Given the description of an element on the screen output the (x, y) to click on. 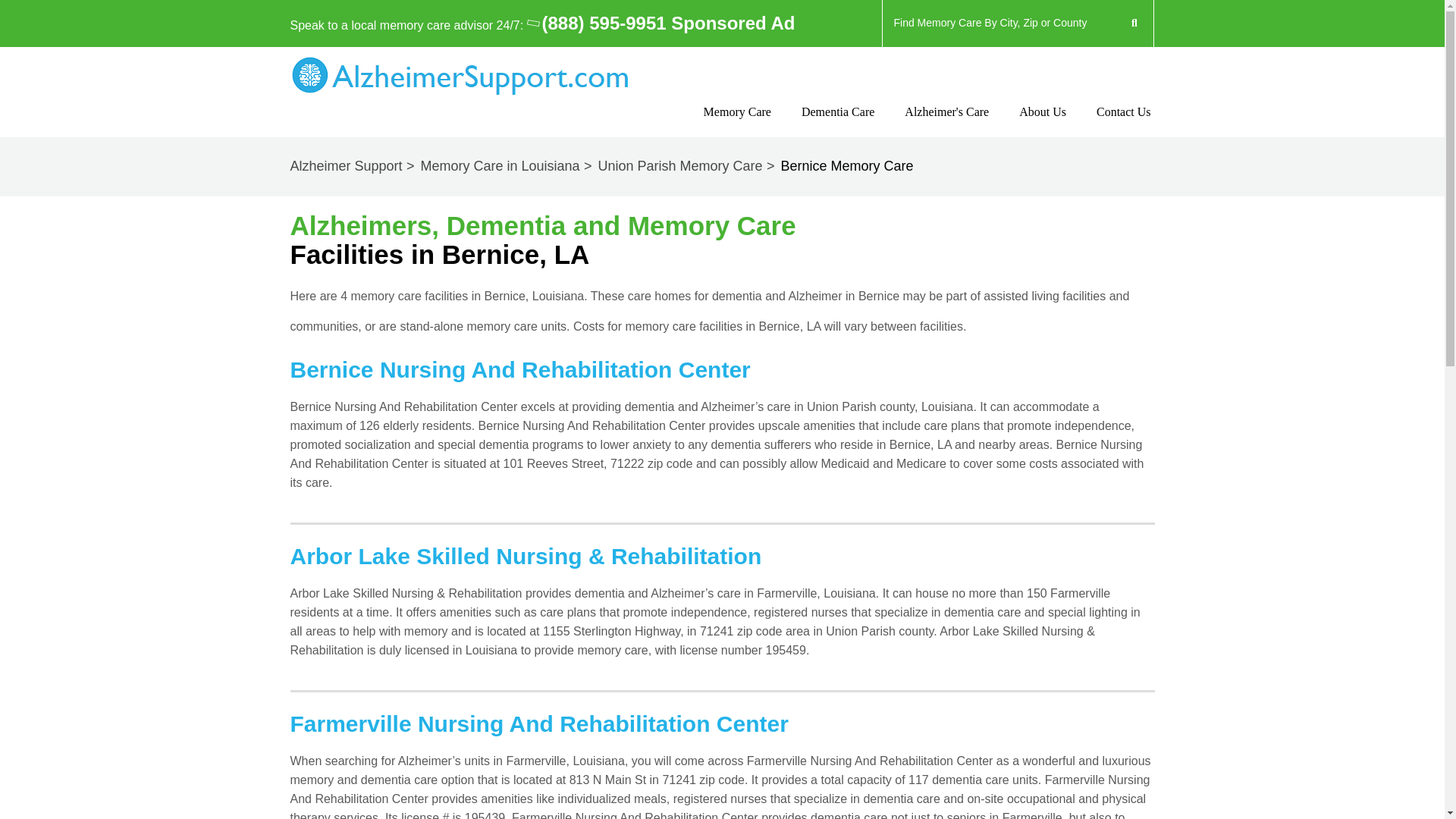
Memory Care (737, 124)
Dementia Care (838, 124)
Alzheimer's Care (946, 124)
Memory Care (737, 124)
Contact Us (1042, 124)
Memory Care in Louisiana (507, 165)
Union Parish Memory Care (686, 165)
Alzheimer Support (352, 165)
Alzheimer's Care (946, 124)
Alzheimer Support (352, 165)
